Given the description of an element on the screen output the (x, y) to click on. 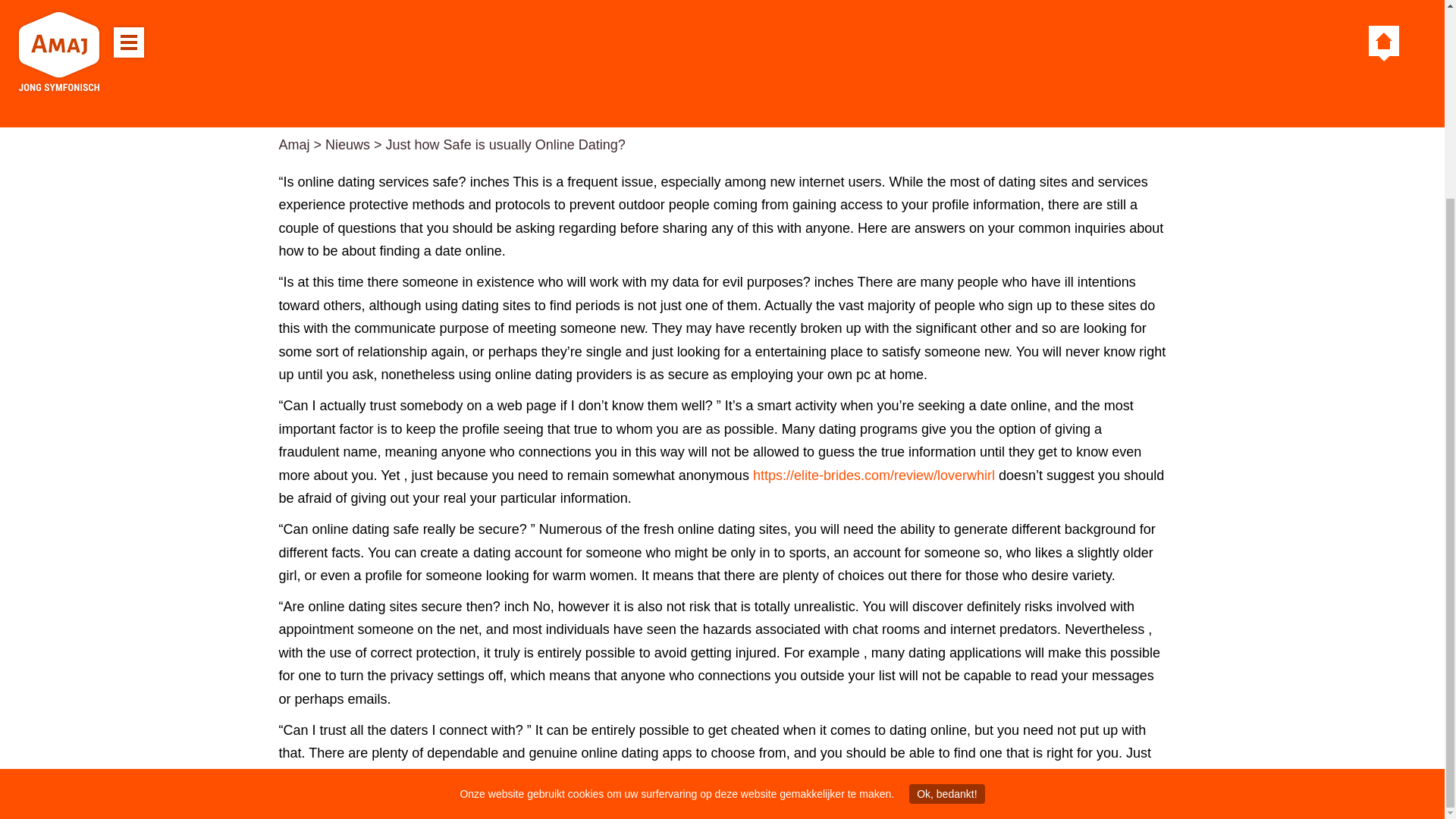
Ga naar Amaj. (294, 144)
Ga naar de Nieuws categorie archieven. (346, 144)
Amaj (294, 144)
Ok, bedankt! (946, 542)
Nieuws (346, 144)
